Given the description of an element on the screen output the (x, y) to click on. 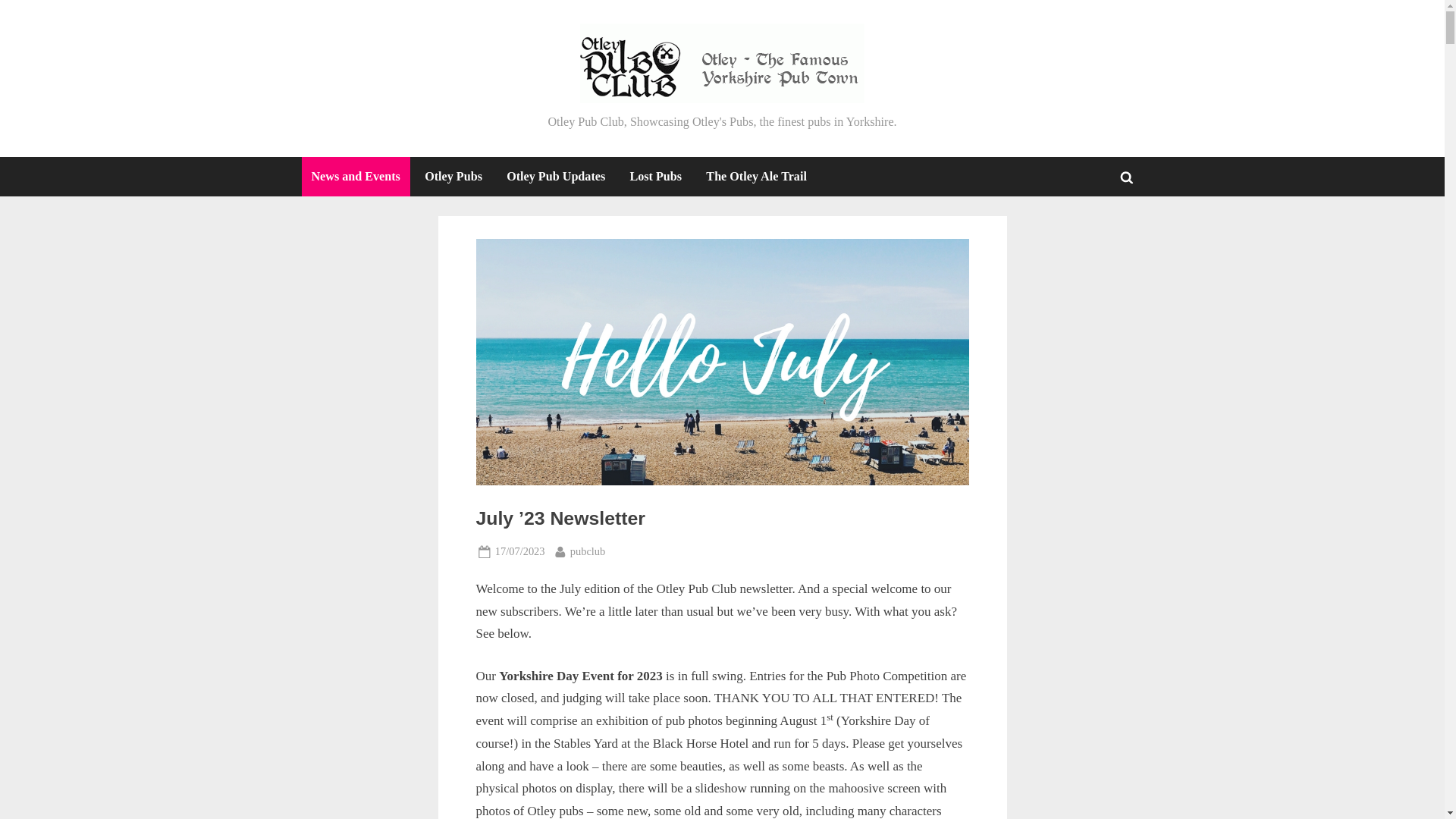
News and Events (355, 176)
Lost Pubs (655, 176)
Otley Pub Updates (555, 176)
Toggle search form (587, 551)
The Otley Ale Trail (1126, 176)
Otley Pubs (755, 176)
